Given the description of an element on the screen output the (x, y) to click on. 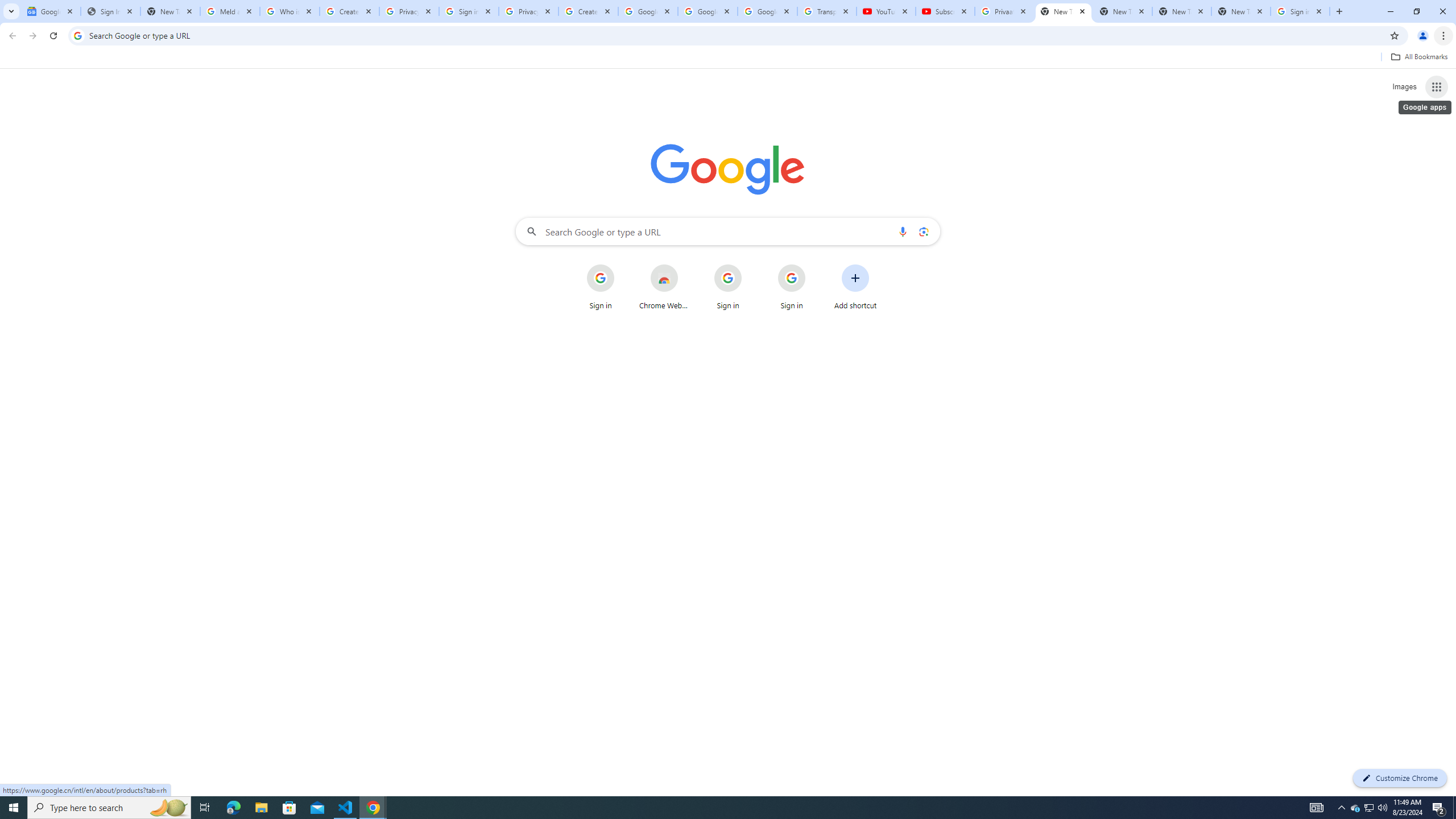
Who is my administrator? - Google Account Help (289, 11)
Google News (50, 11)
More actions for Chrome Web Store shortcut (686, 265)
